Given the description of an element on the screen output the (x, y) to click on. 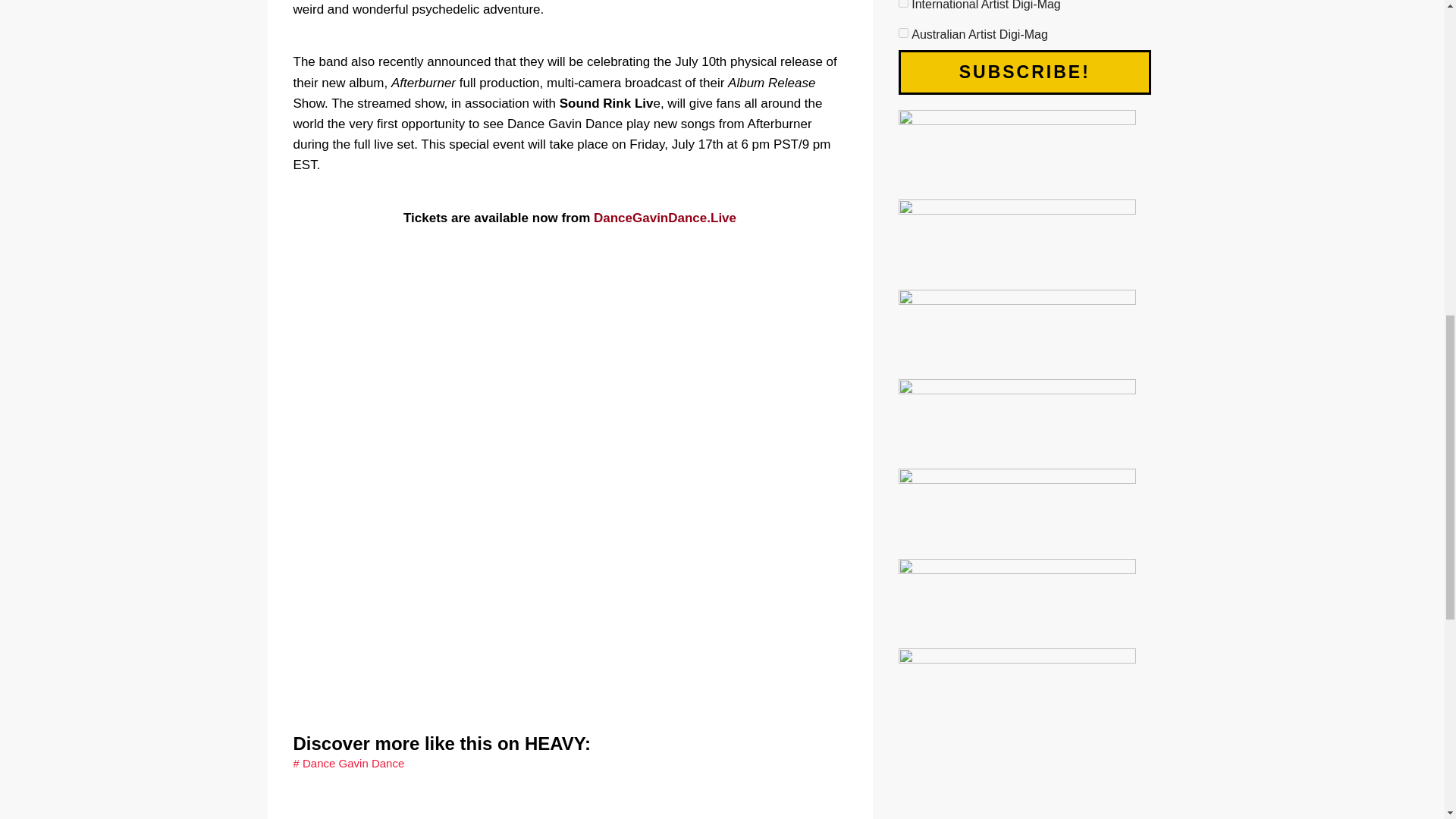
  Australian Artist Digi-Mag (902, 32)
  International Artist Digi-Mag (902, 3)
